Given the description of an element on the screen output the (x, y) to click on. 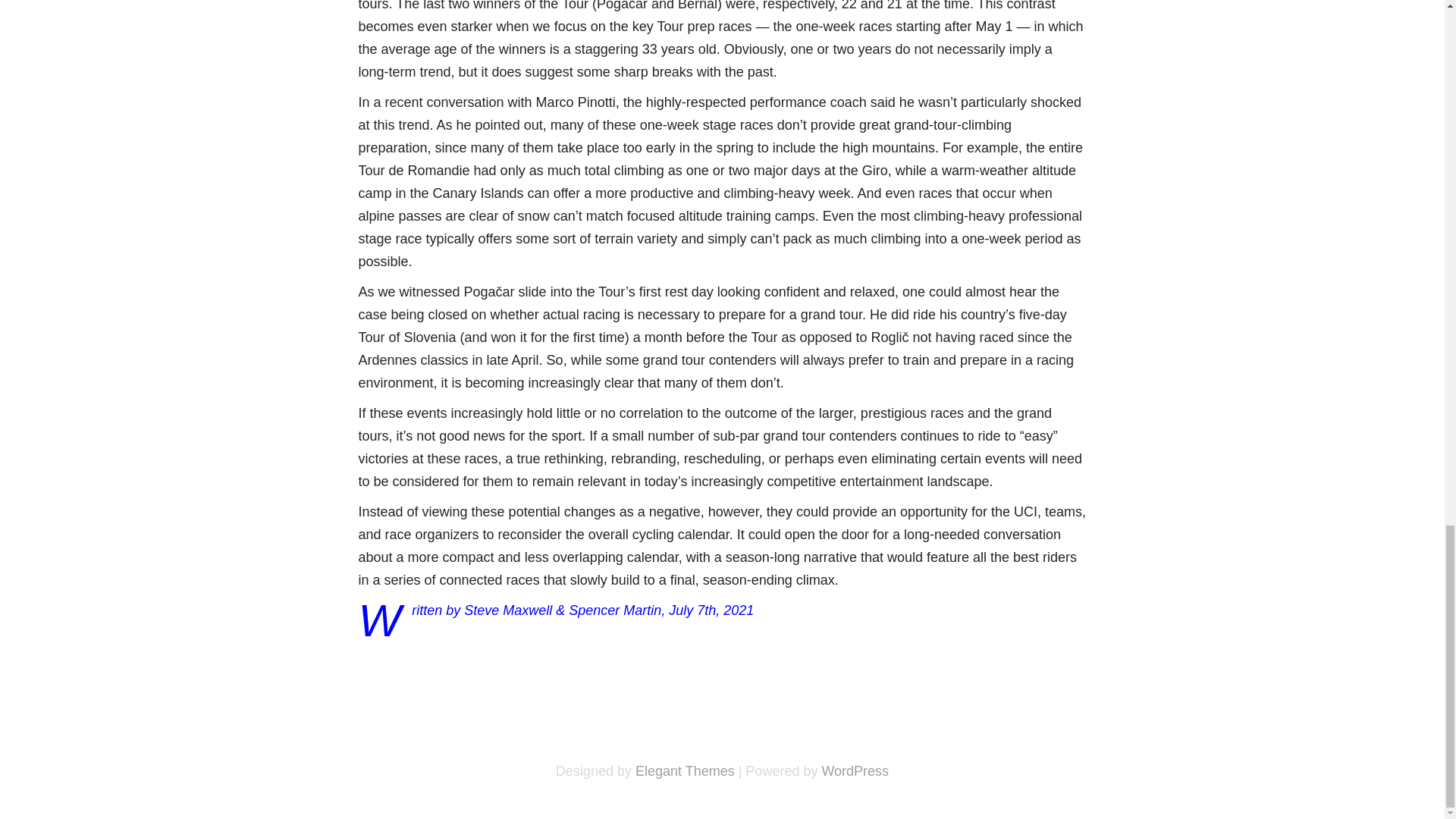
Premium WordPress Themes (684, 770)
